Given the description of an element on the screen output the (x, y) to click on. 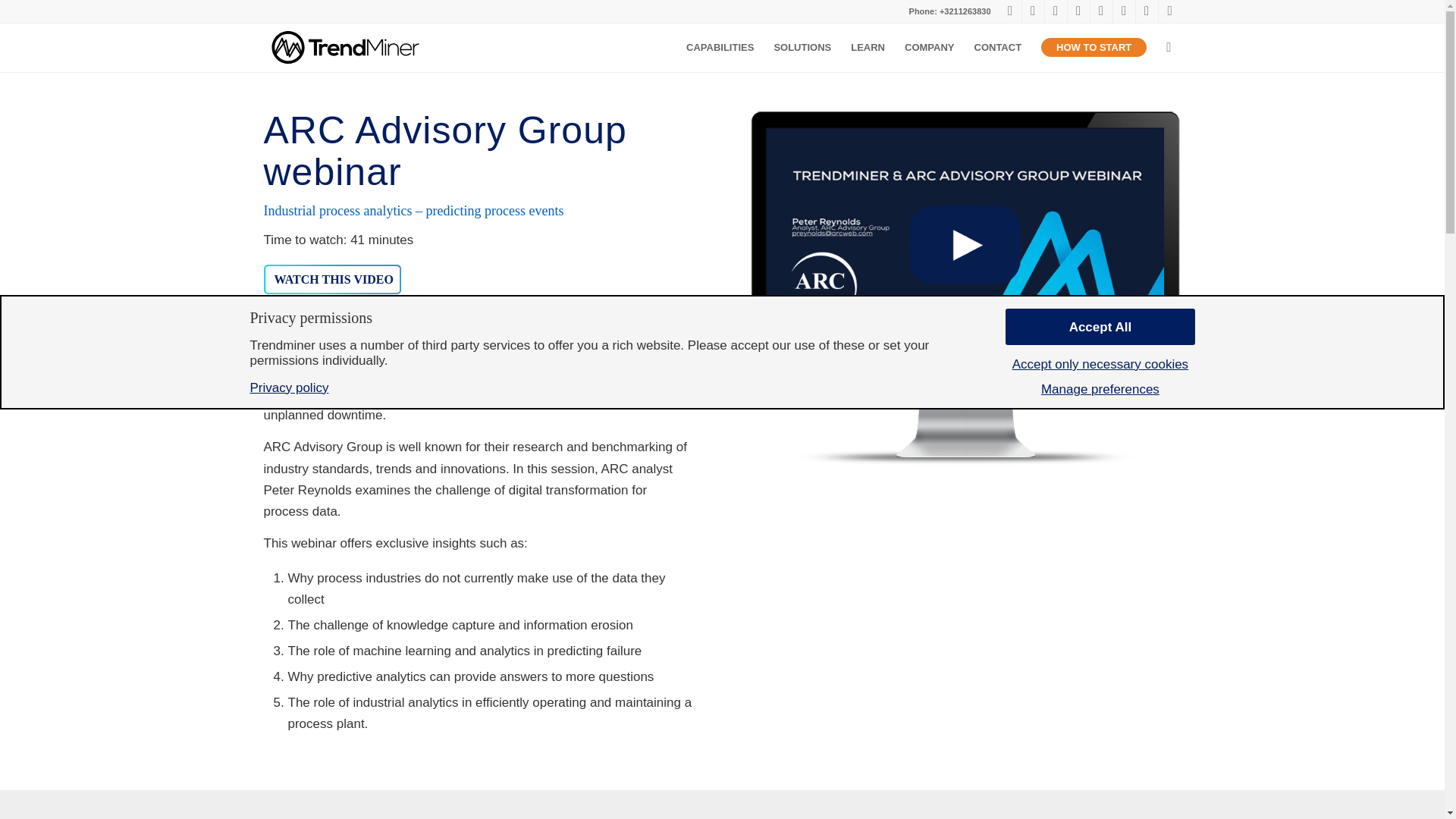
Instagram (1124, 11)
Rss (1169, 11)
SOLUTIONS (801, 47)
Twitter (1032, 11)
LinkedIn (1010, 11)
Mail (1146, 11)
Vimeo (1101, 11)
CAPABILITIES (719, 47)
Facebook (1056, 11)
Youtube (1078, 11)
